Given the description of an element on the screen output the (x, y) to click on. 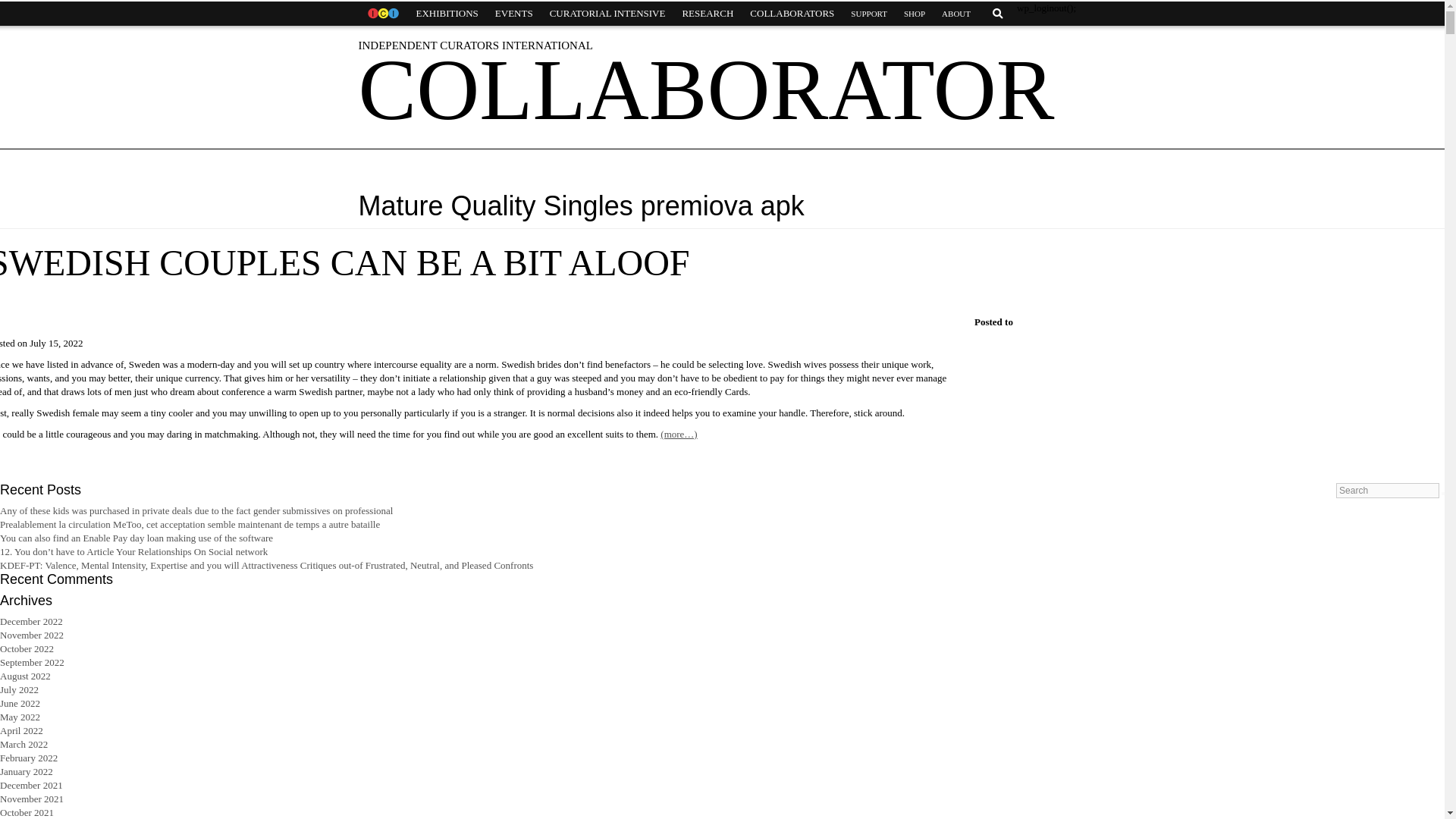
EXHIBITIONS (446, 13)
RESEARCH (706, 13)
CURATORIAL INTENSIVE (607, 13)
HOME (382, 13)
EVENTS (513, 13)
COLLABORATORS (792, 13)
